Given the description of an element on the screen output the (x, y) to click on. 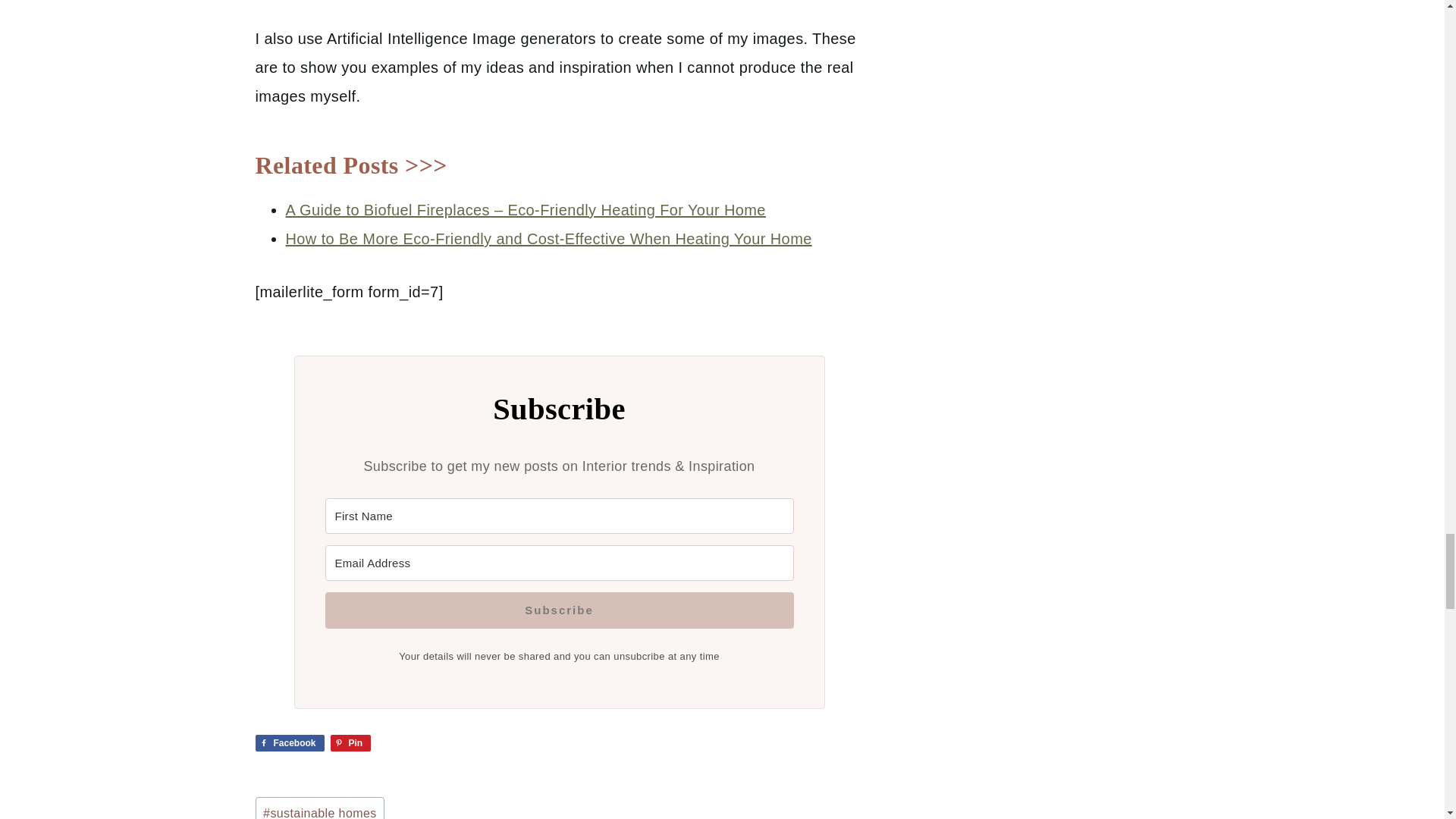
sustainable homes (319, 807)
Share on Pinterest (350, 742)
Share on Facebook (288, 742)
